Given the description of an element on the screen output the (x, y) to click on. 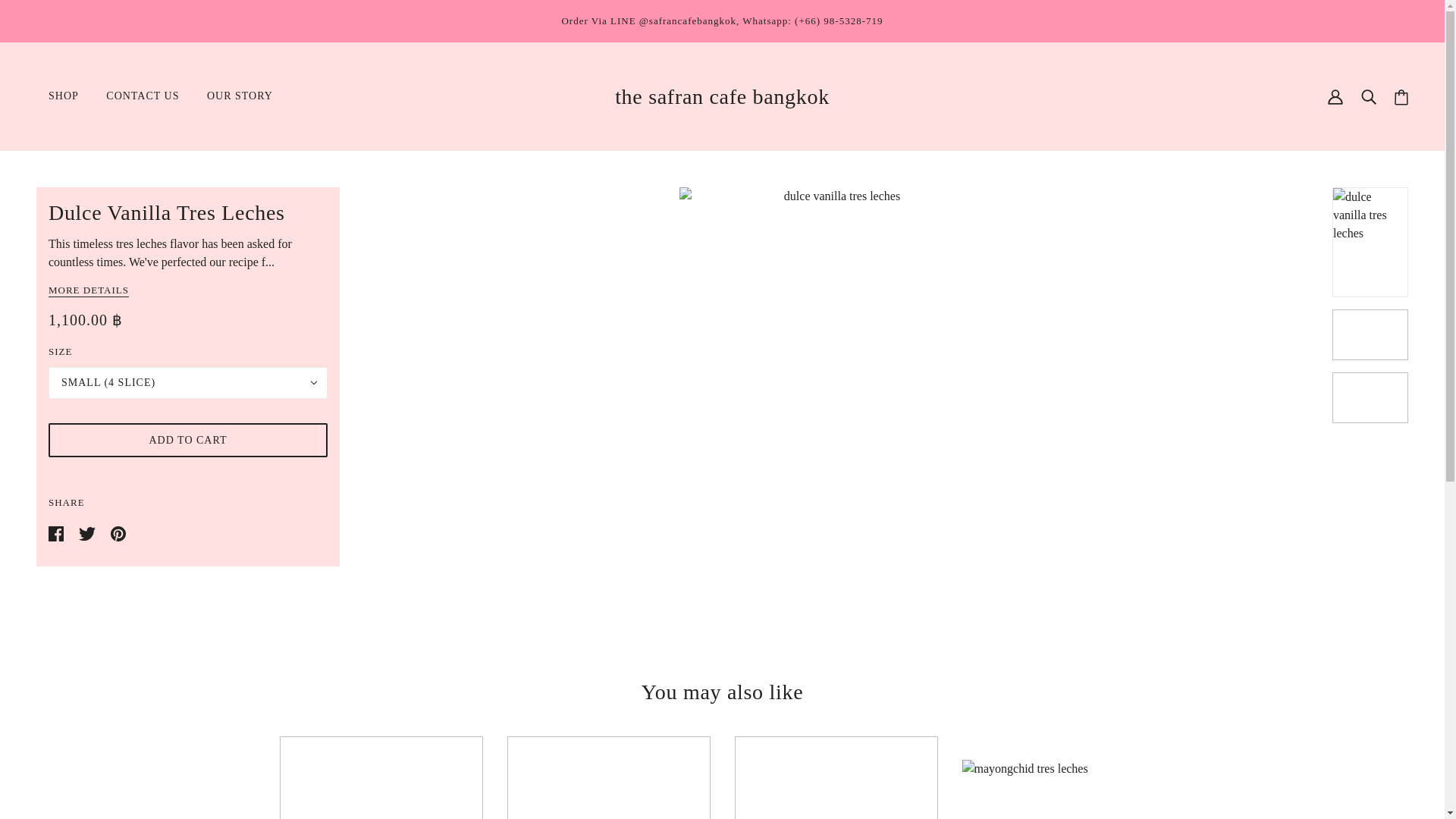
the safran cafe bangkok (721, 96)
SHOP (63, 96)
MORE DETAILS (88, 291)
OUR STORY (240, 96)
ADD TO CART (187, 440)
CONTACT US (142, 96)
